Given the description of an element on the screen output the (x, y) to click on. 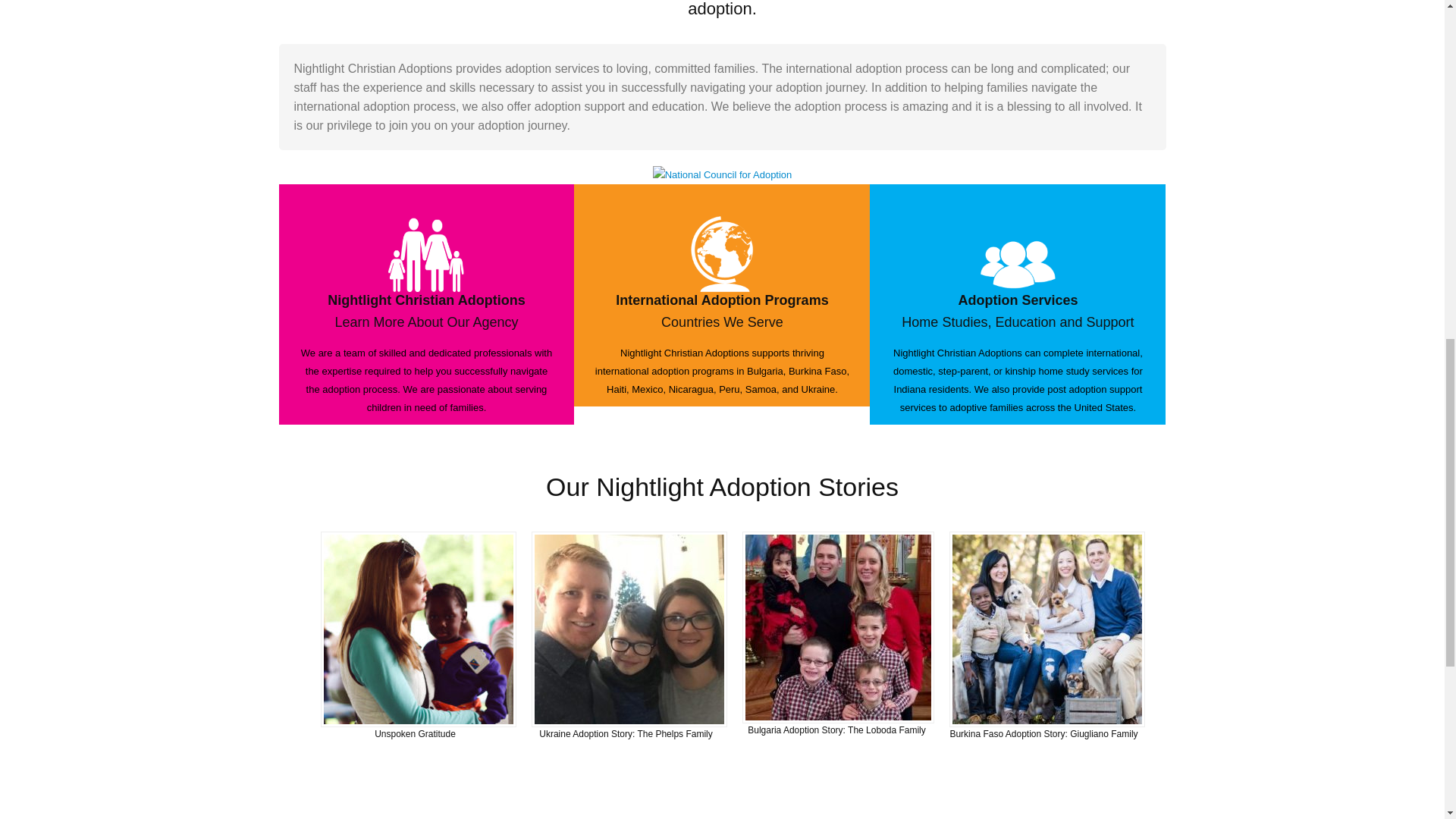
Unspoken Gratitude (414, 733)
Ukraine Adoption Story: The Phelps Family (625, 733)
Burkina Faso Adoption Story: Giugliano Family (1043, 733)
Bulgaria Adoption Story: The Loboda Family (837, 729)
